Given the description of an element on the screen output the (x, y) to click on. 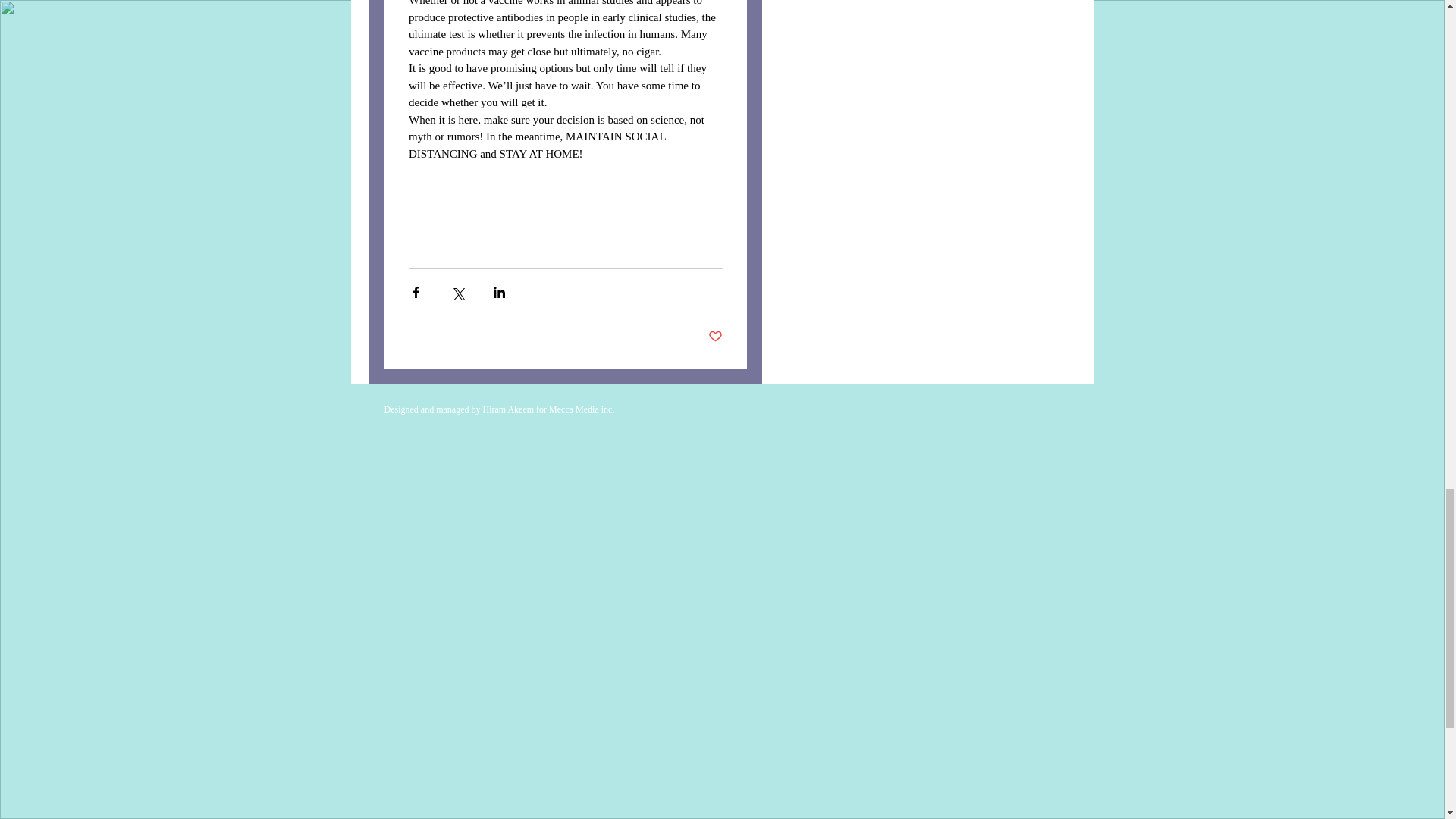
Post not marked as liked (714, 336)
